Given the description of an element on the screen output the (x, y) to click on. 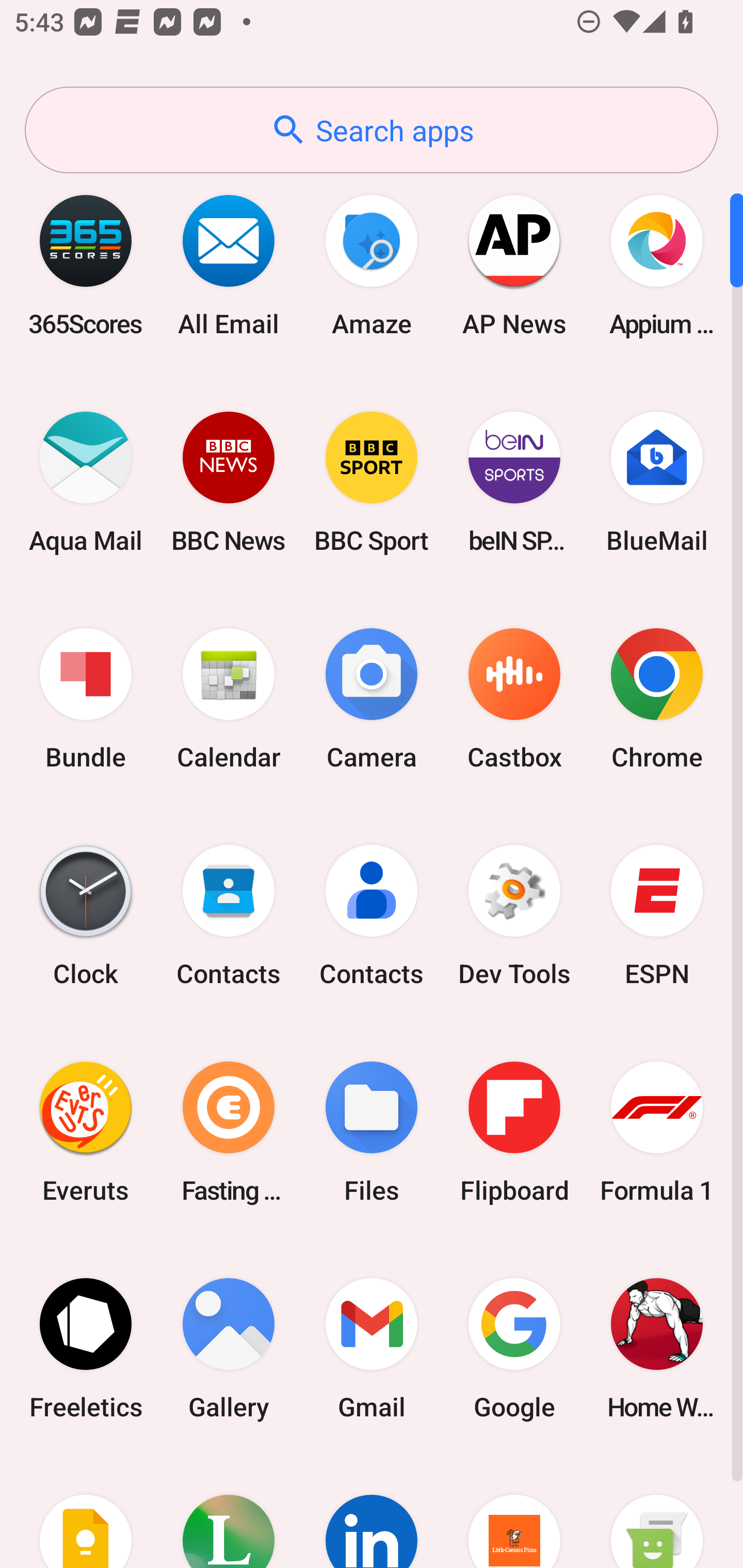
  Search apps (371, 130)
365Scores (85, 264)
All Email (228, 264)
Amaze (371, 264)
AP News (514, 264)
Appium Settings (656, 264)
Aqua Mail (85, 482)
BBC News (228, 482)
BBC Sport (371, 482)
beIN SPORTS (514, 482)
BlueMail (656, 482)
Bundle (85, 699)
Calendar (228, 699)
Camera (371, 699)
Castbox (514, 699)
Chrome (656, 699)
Clock (85, 915)
Contacts (228, 915)
Contacts (371, 915)
Dev Tools (514, 915)
ESPN (656, 915)
Everuts (85, 1131)
Fasting Coach (228, 1131)
Files (371, 1131)
Flipboard (514, 1131)
Formula 1 (656, 1131)
Freeletics (85, 1348)
Gallery (228, 1348)
Gmail (371, 1348)
Google (514, 1348)
Home Workout (656, 1348)
Keep Notes (85, 1512)
Lifesum (228, 1512)
LinkedIn (371, 1512)
Little Caesars Pizza (514, 1512)
Messaging (656, 1512)
